Given the description of an element on the screen output the (x, y) to click on. 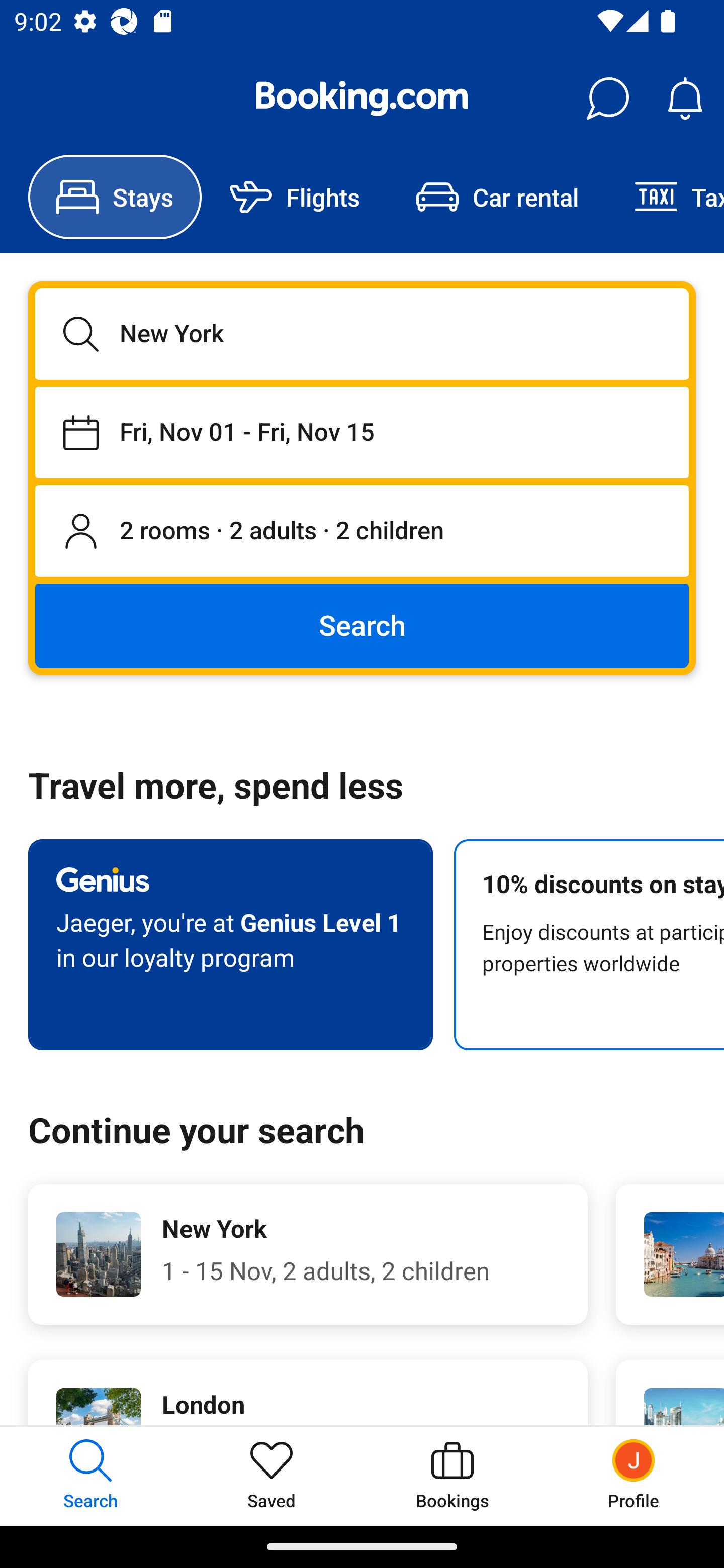
Messages (607, 98)
Notifications (685, 98)
Stays (114, 197)
Flights (294, 197)
Car rental (497, 197)
Taxi (665, 197)
New York (361, 333)
Staying from Fri, Nov 01 until Fri, Nov 15 (361, 432)
2 rooms, 2 adults, 2 children (361, 531)
Search (361, 625)
New York 1 - 15 Nov, 2 adults, 2 children (307, 1253)
Saved (271, 1475)
Bookings (452, 1475)
Profile (633, 1475)
